Given the description of an element on the screen output the (x, y) to click on. 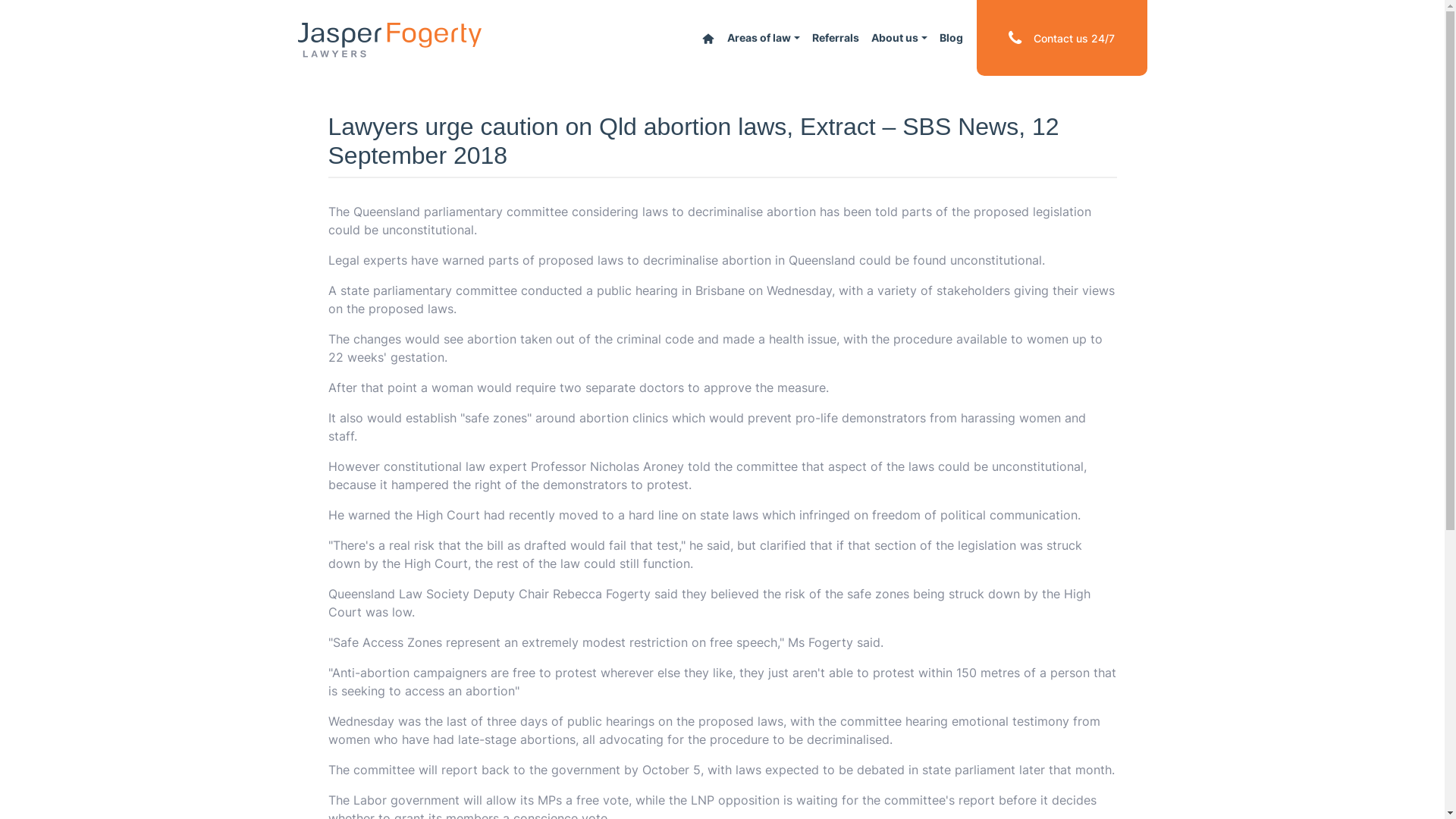
Areas of law Element type: text (763, 37)
Referrals Element type: text (835, 37)
About us Element type: text (899, 37)
Contact us 24/7 Element type: text (1061, 37)
Blog Element type: text (950, 37)
